Given the description of an element on the screen output the (x, y) to click on. 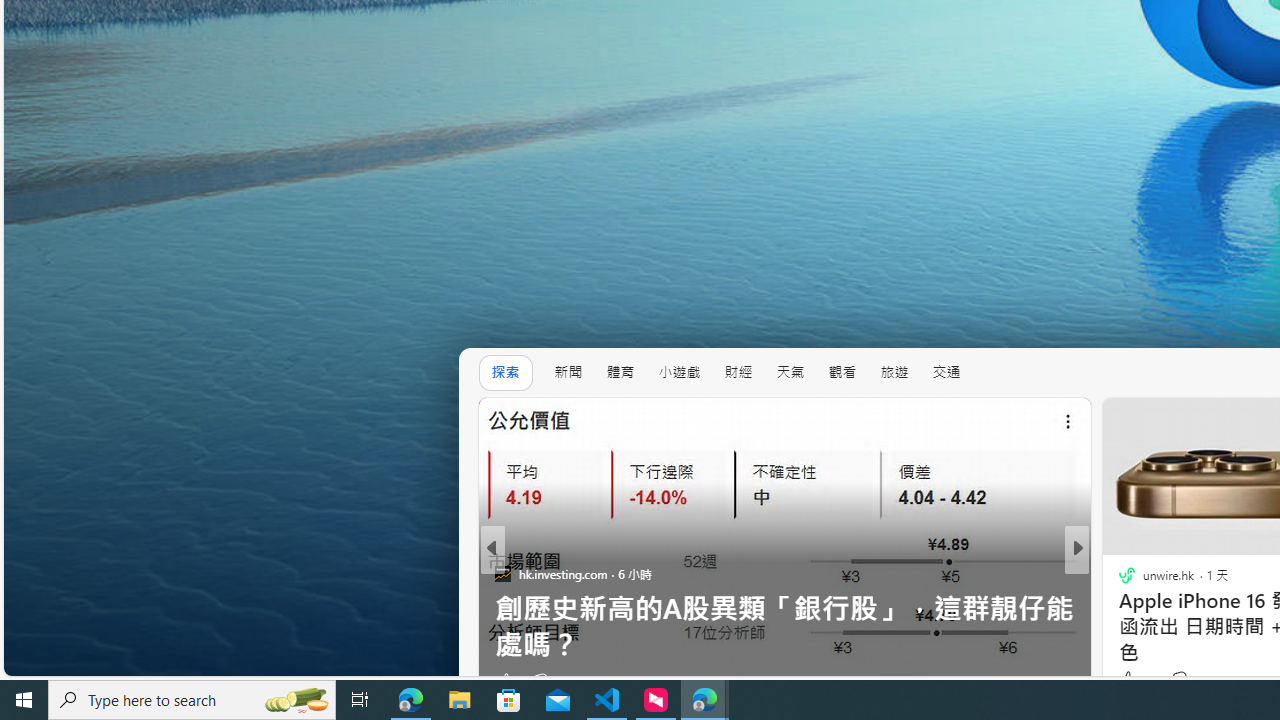
unwire.hk (1117, 573)
FiNET (1117, 573)
